Given the description of an element on the screen output the (x, y) to click on. 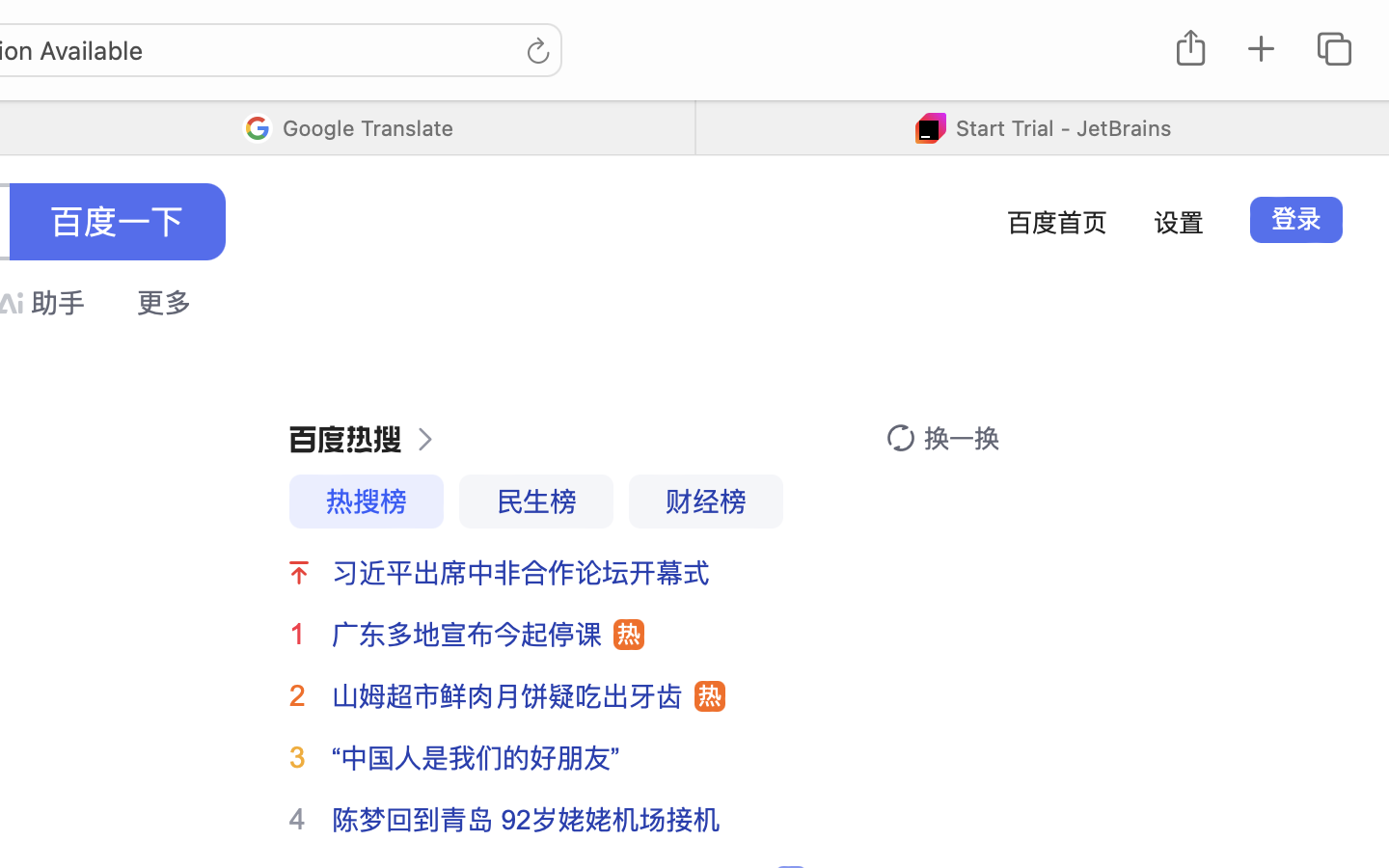
习近平出席中非合作论坛开幕式 Element type: AXStaticText (520, 572)
民生榜 Element type: AXStaticText (535, 501)
“中国人是我们的好朋友” Element type: AXStaticText (476, 757)
